Given the description of an element on the screen output the (x, y) to click on. 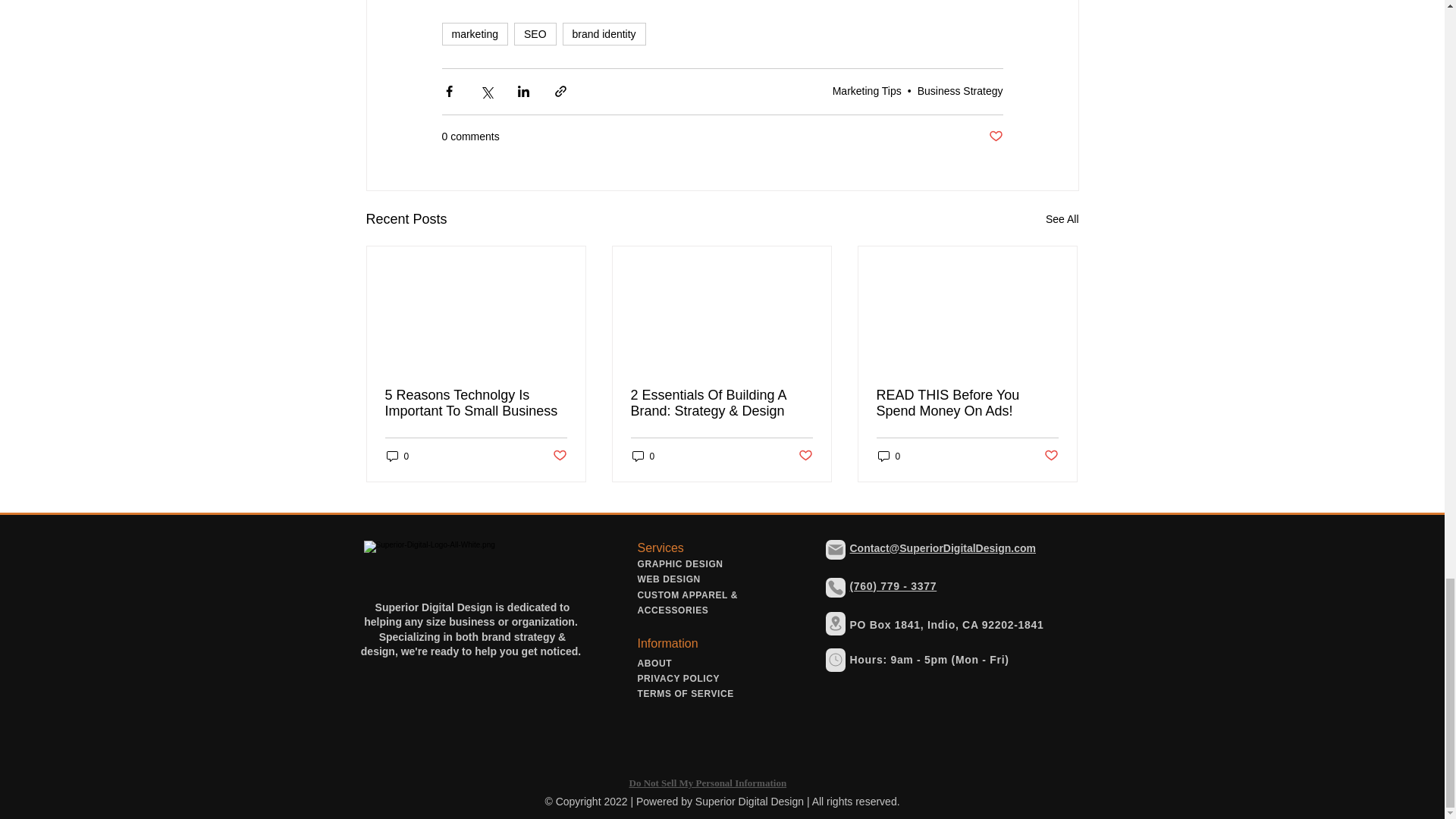
Post not marked as liked (558, 455)
5 Reasons Technolgy Is Important To Small Business (476, 403)
marketing (473, 33)
SEO (534, 33)
Post not marked as liked (995, 136)
0 (397, 455)
0 (643, 455)
0 (889, 455)
Post not marked as liked (804, 455)
brand identity (604, 33)
Business Strategy (960, 91)
Post not marked as liked (1050, 455)
READ THIS Before You Spend Money On Ads! (967, 403)
Marketing Tips (866, 91)
See All (1061, 219)
